Given the description of an element on the screen output the (x, y) to click on. 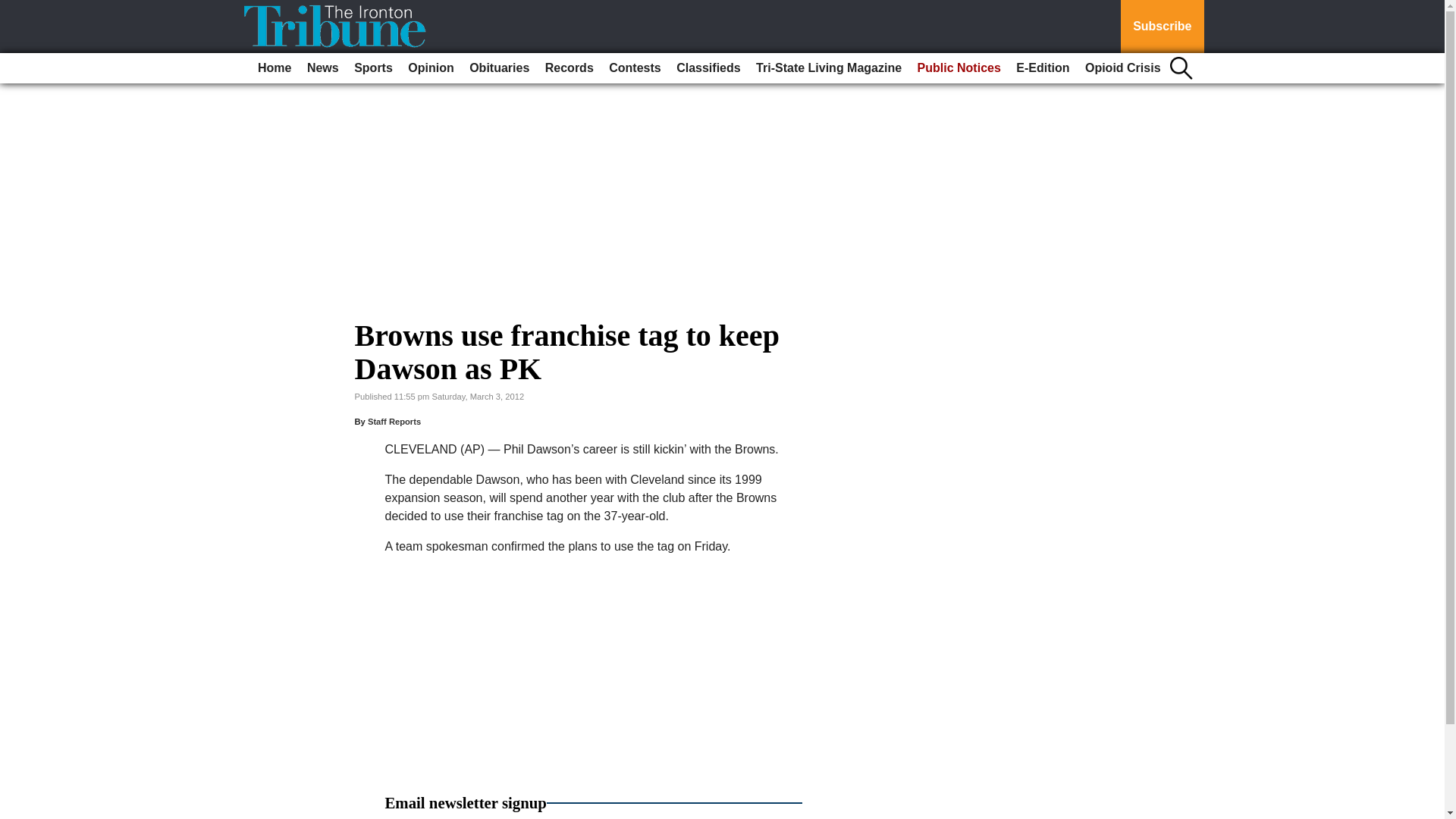
Sports (372, 68)
Staff Reports (394, 420)
Contests (634, 68)
Obituaries (499, 68)
E-Edition (1042, 68)
Subscribe (1162, 26)
Go (13, 9)
Opinion (430, 68)
Records (568, 68)
Public Notices (959, 68)
